Given the description of an element on the screen output the (x, y) to click on. 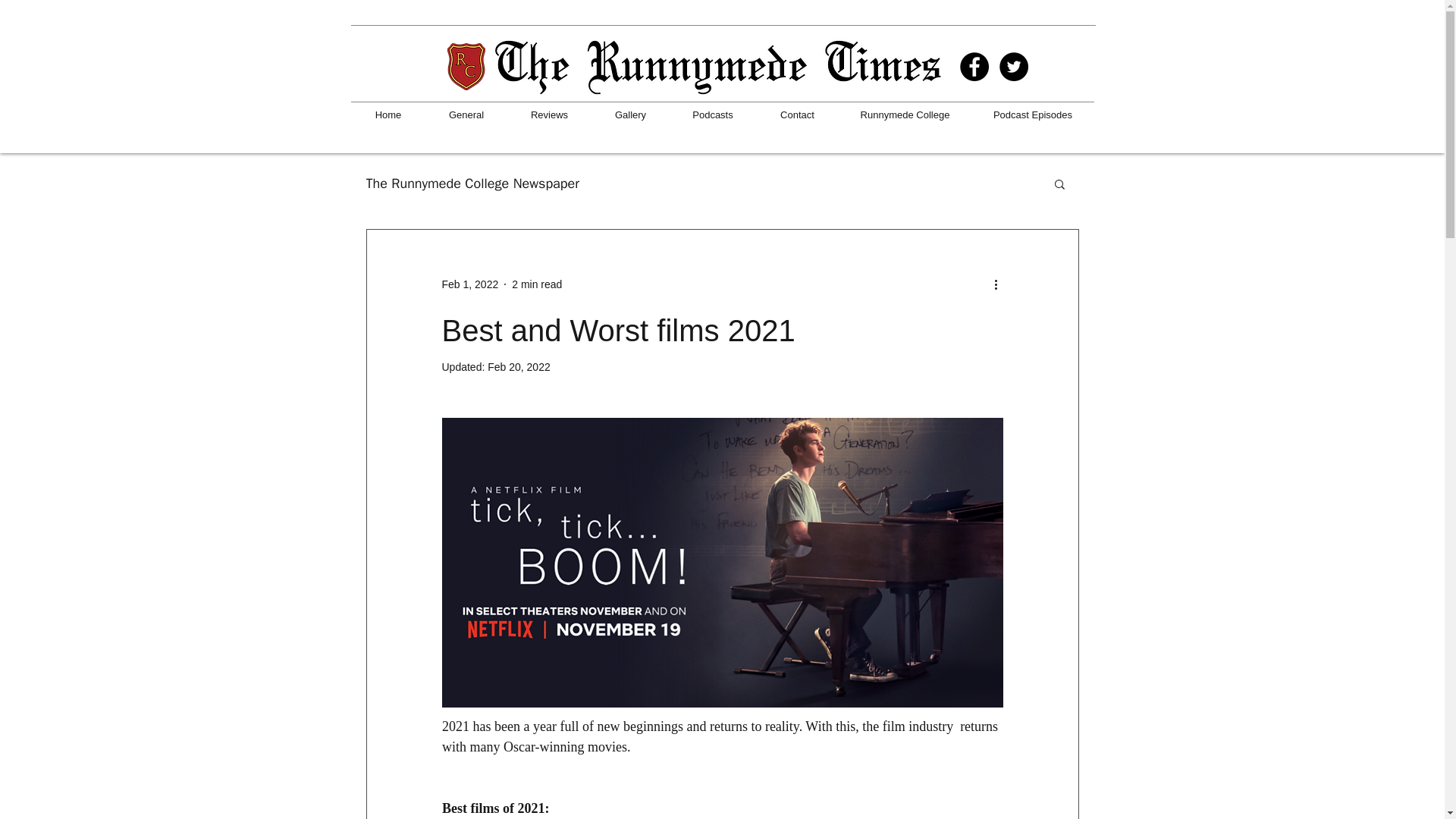
Feb 1, 2022 (469, 283)
Home (387, 115)
Podcast Episodes (1033, 115)
Contact (797, 115)
Gallery (629, 115)
General (466, 115)
Podcasts (711, 115)
Feb 20, 2022 (518, 367)
2 min read (537, 283)
Runnymede College (905, 115)
